Given the description of an element on the screen output the (x, y) to click on. 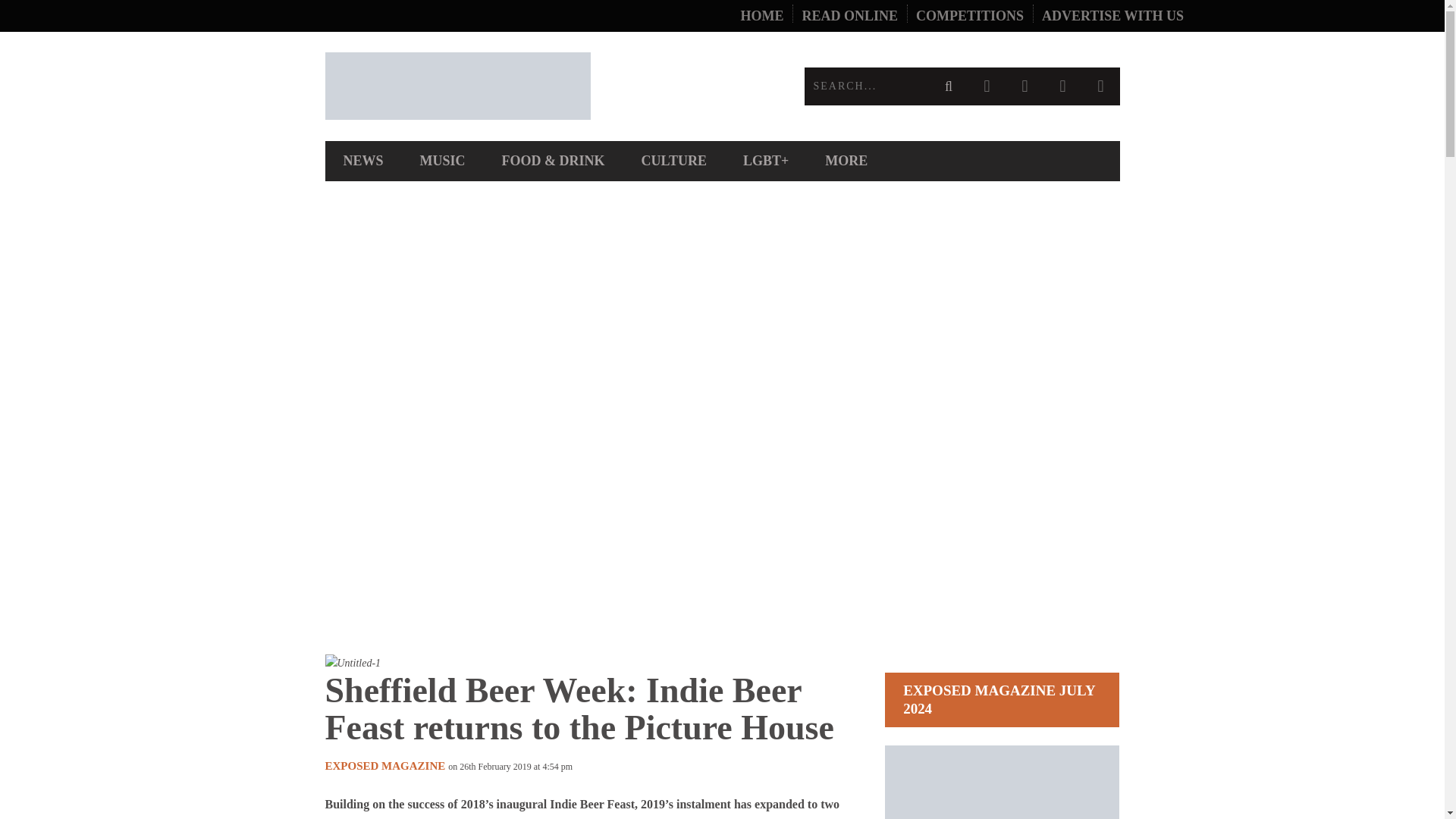
ADVERTISE WITH US (1112, 15)
Posts by Exposed Magazine (384, 766)
NEWS (362, 161)
COMPETITIONS (969, 15)
Exposed Magazine (523, 85)
CULTURE (674, 161)
MORE (845, 161)
MUSIC (442, 161)
HOME (761, 15)
READ ONLINE (849, 15)
